Given the description of an element on the screen output the (x, y) to click on. 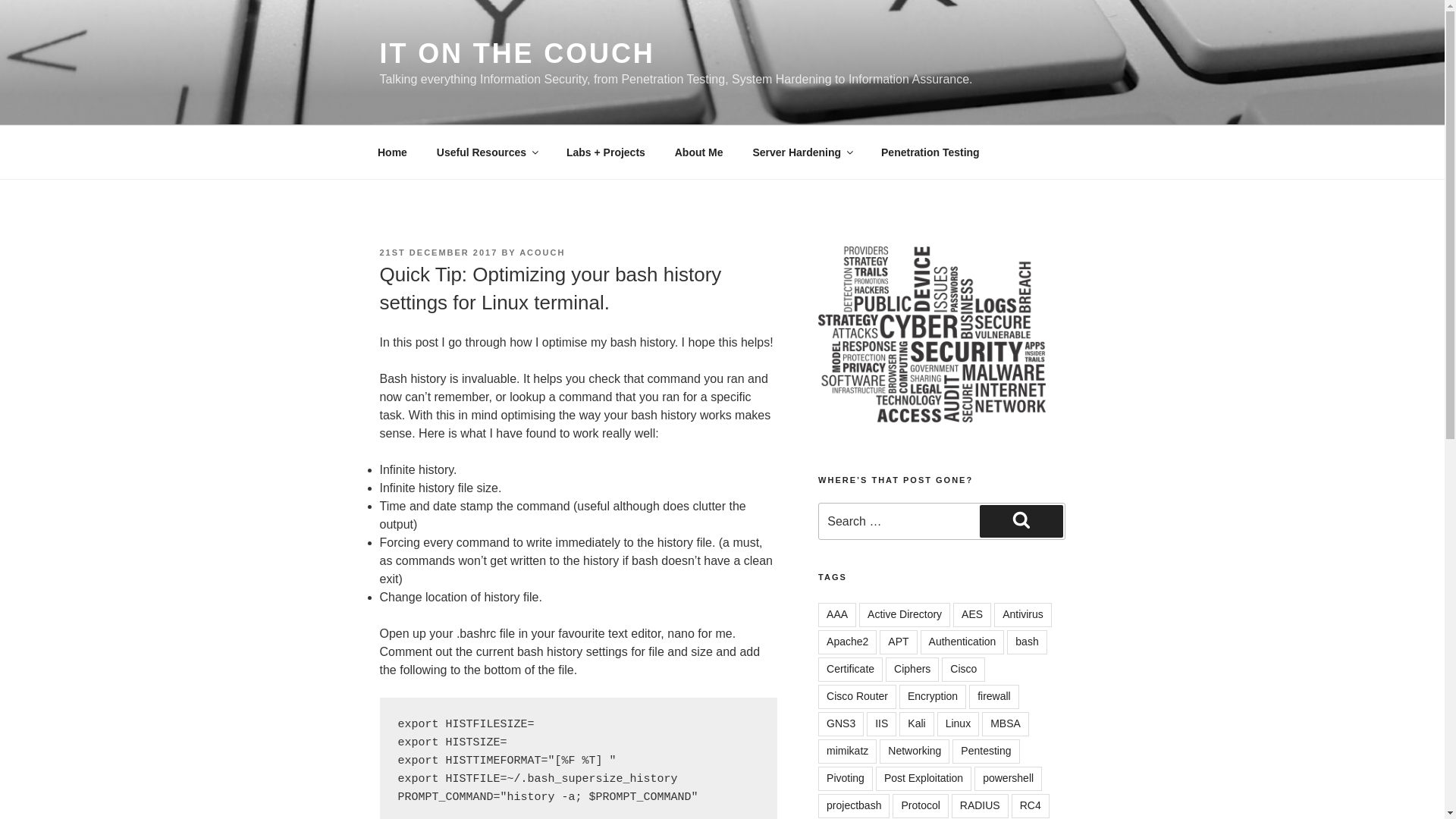
Penetration Testing (929, 151)
AES (972, 614)
Certificate (850, 669)
Server Hardening (801, 151)
Encryption (932, 696)
21ST DECEMBER 2017 (437, 252)
Antivirus (1022, 614)
bash (1026, 641)
Ciphers (912, 669)
firewall (994, 696)
Search (1020, 521)
Cisco (963, 669)
Authentication (962, 641)
AAA (837, 614)
GNS3 (840, 723)
